Given the description of an element on the screen output the (x, y) to click on. 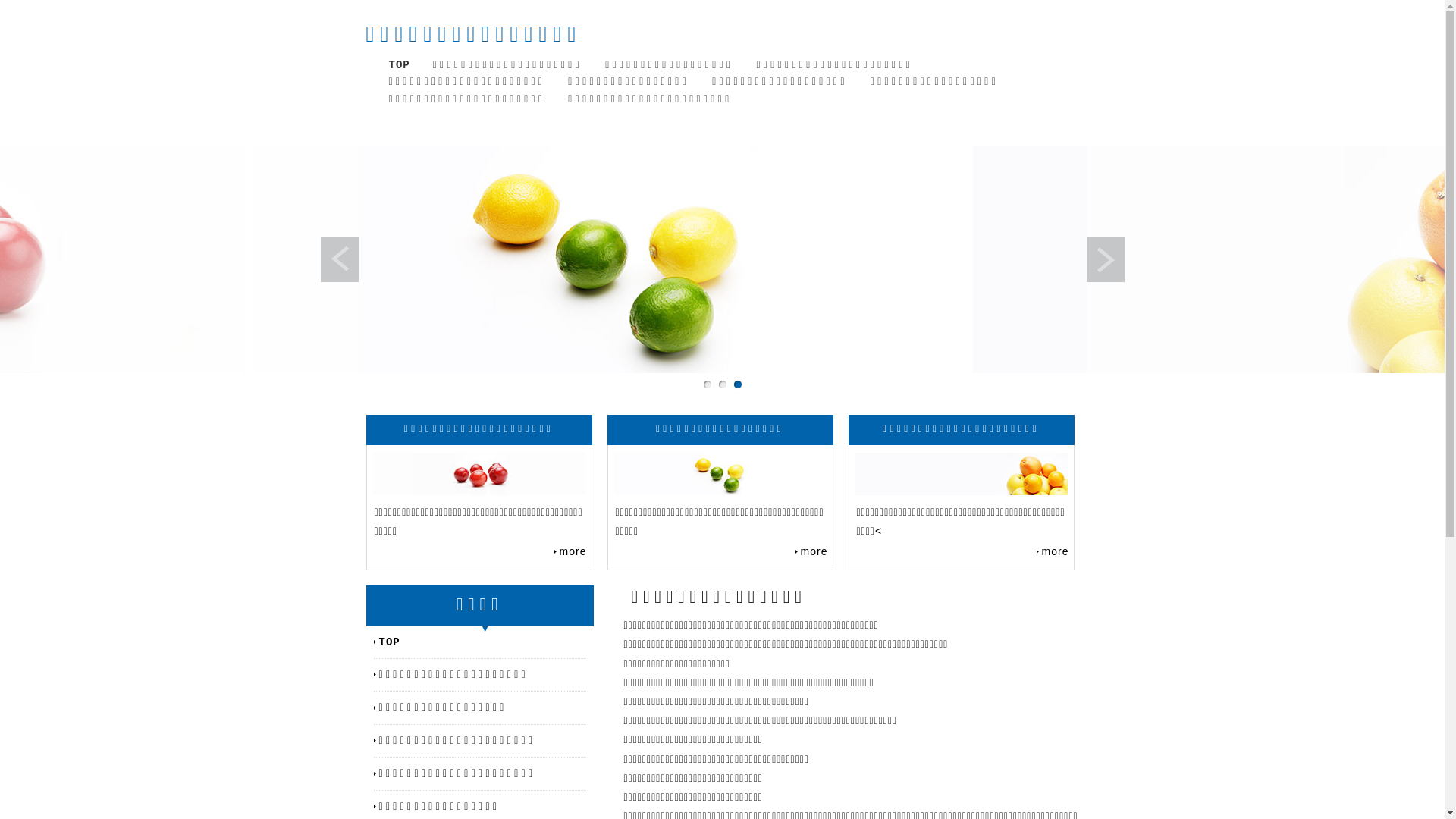
TOP Element type: text (482, 642)
more Element type: text (1052, 551)
TOP Element type: text (398, 64)
more Element type: text (570, 551)
more Element type: text (811, 551)
